Given the description of an element on the screen output the (x, y) to click on. 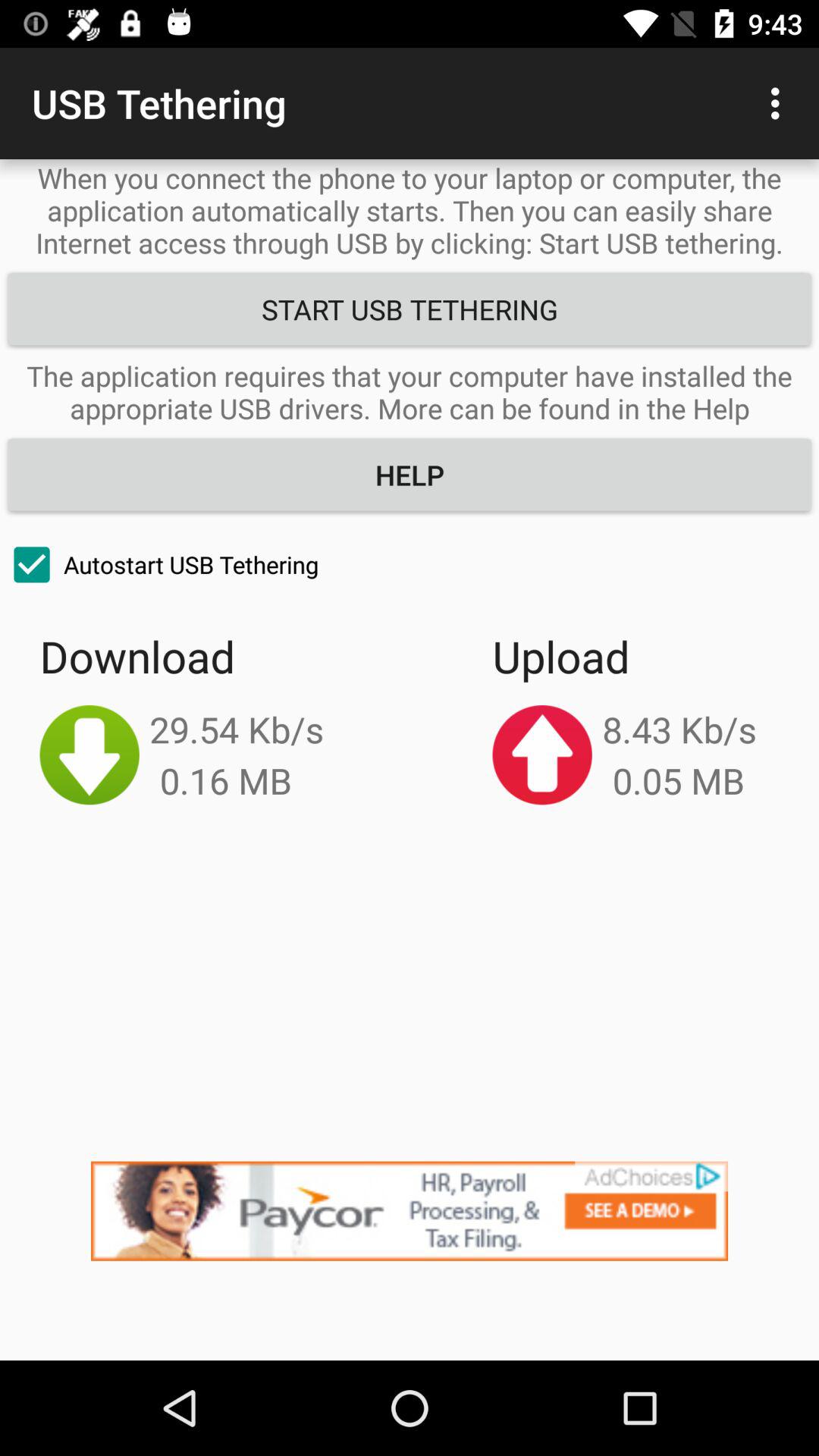
view advertisement (409, 1260)
